Given the description of an element on the screen output the (x, y) to click on. 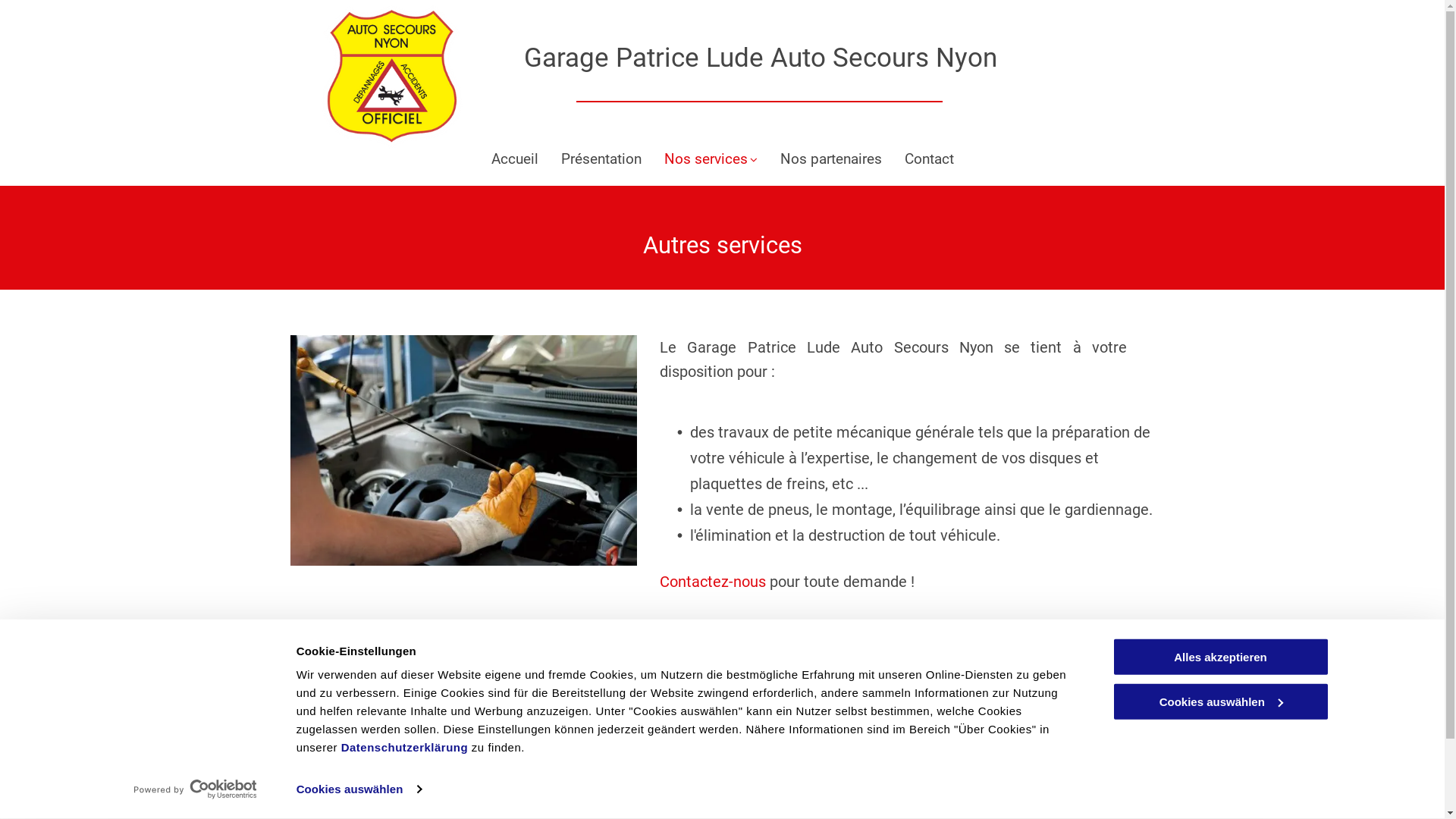
Contact Element type: text (928, 159)
Nos partenaires Element type: text (830, 159)
022 362 25 25 Element type: text (620, 722)
Accueil Element type: text (514, 159)
022 361 31 41 Element type: text (620, 704)
Contactez-nous Element type: text (712, 581)
Nos services Element type: text (710, 159)
Garage Patrice Lude Auto Secours Nyon Element type: text (760, 57)
depalude@bluewin.ch Element type: text (639, 758)
Alles akzeptieren Element type: text (1219, 656)
